Given the description of an element on the screen output the (x, y) to click on. 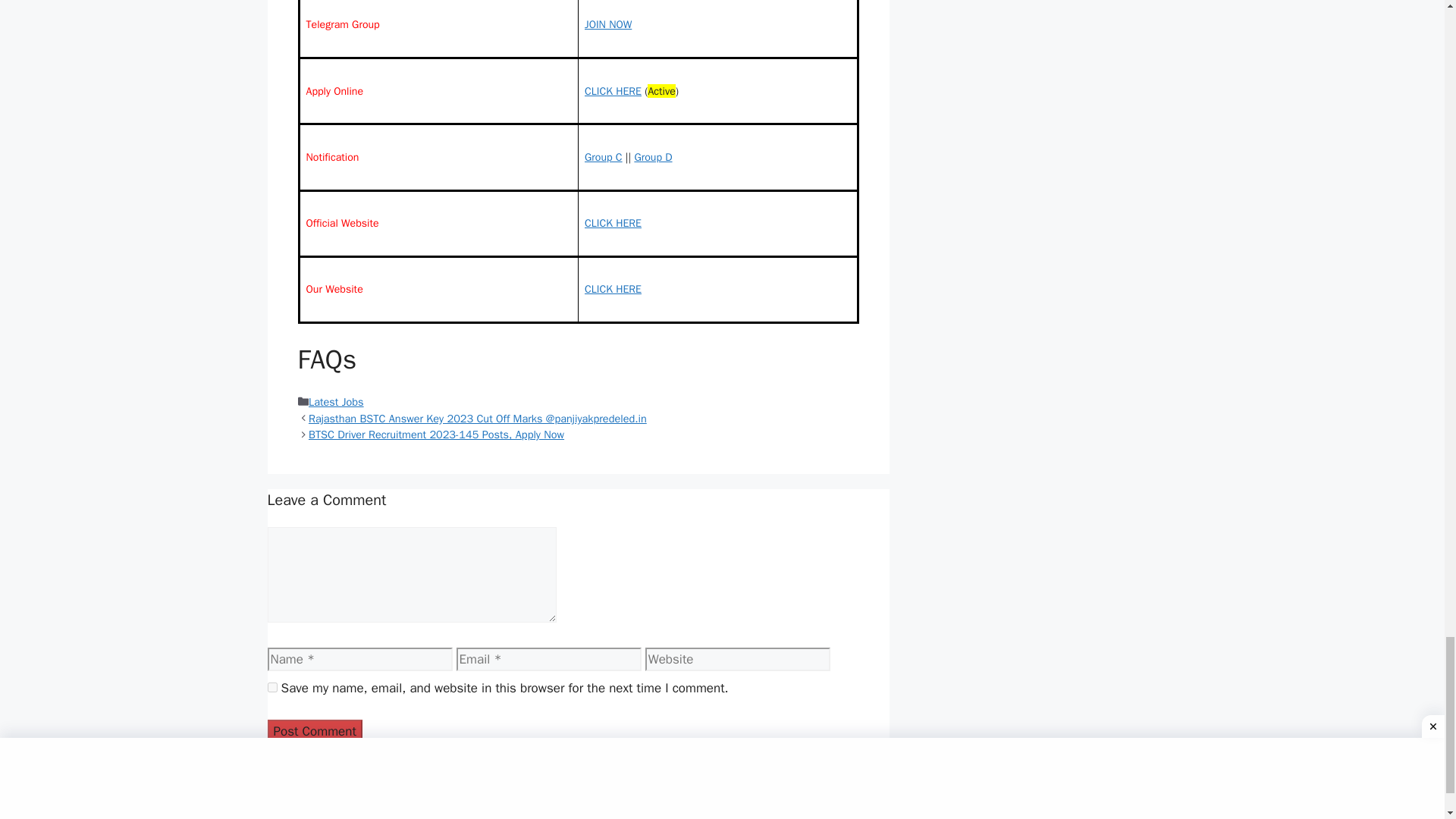
JOIN NOW (608, 24)
CLICK HERE (613, 90)
Contact Us (297, 805)
Latest Jobs (336, 401)
Group D (652, 156)
Post Comment (313, 731)
yes (271, 687)
CLICK HERE (613, 288)
BTSC Driver Recruitment 2023-145 Posts, Apply Now (436, 434)
CLICK HERE (613, 223)
